Given the description of an element on the screen output the (x, y) to click on. 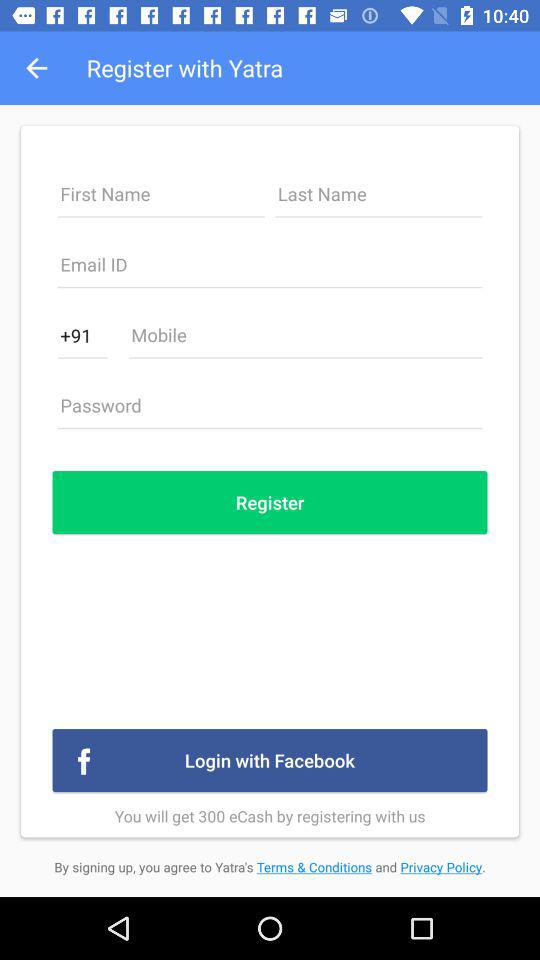
type in the email (269, 270)
